Given the description of an element on the screen output the (x, y) to click on. 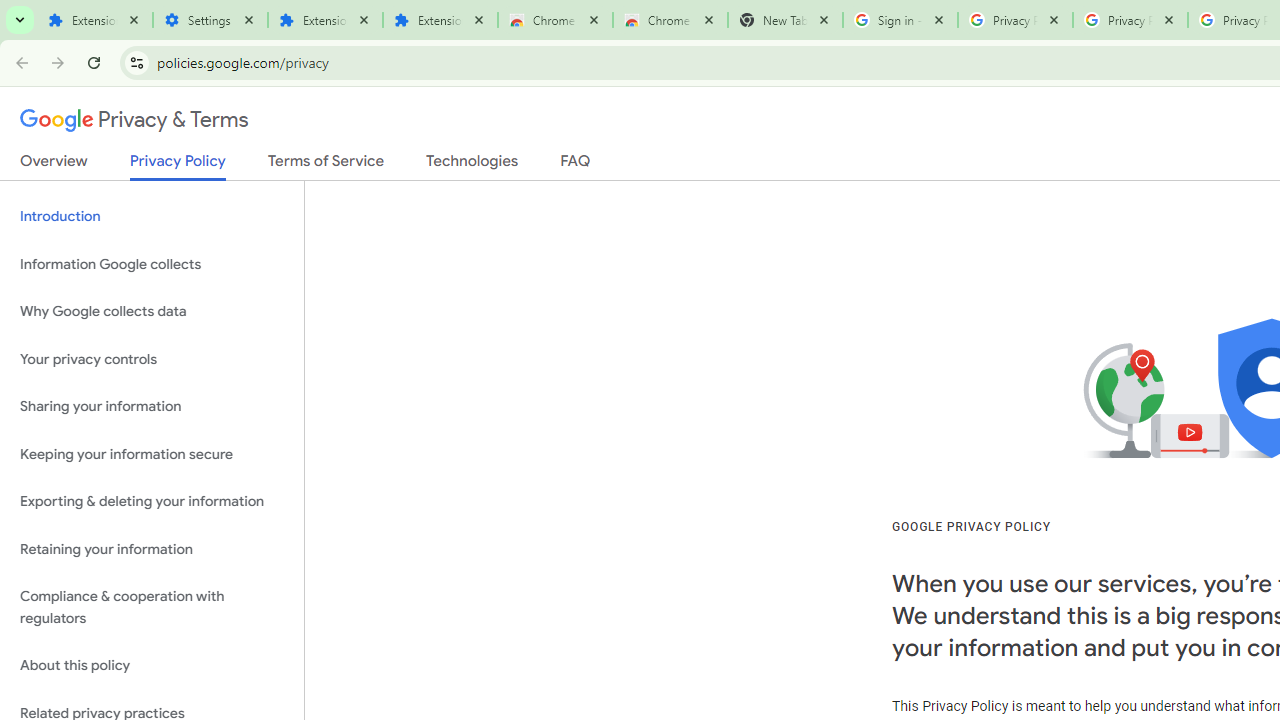
Privacy & Terms (134, 120)
Terms of Service (326, 165)
About this policy (152, 666)
Chrome Web Store - Themes (670, 20)
FAQ (575, 165)
View site information (136, 62)
Introduction (152, 216)
Technologies (472, 165)
Sharing your information (152, 407)
Sign in - Google Accounts (900, 20)
